Given the description of an element on the screen output the (x, y) to click on. 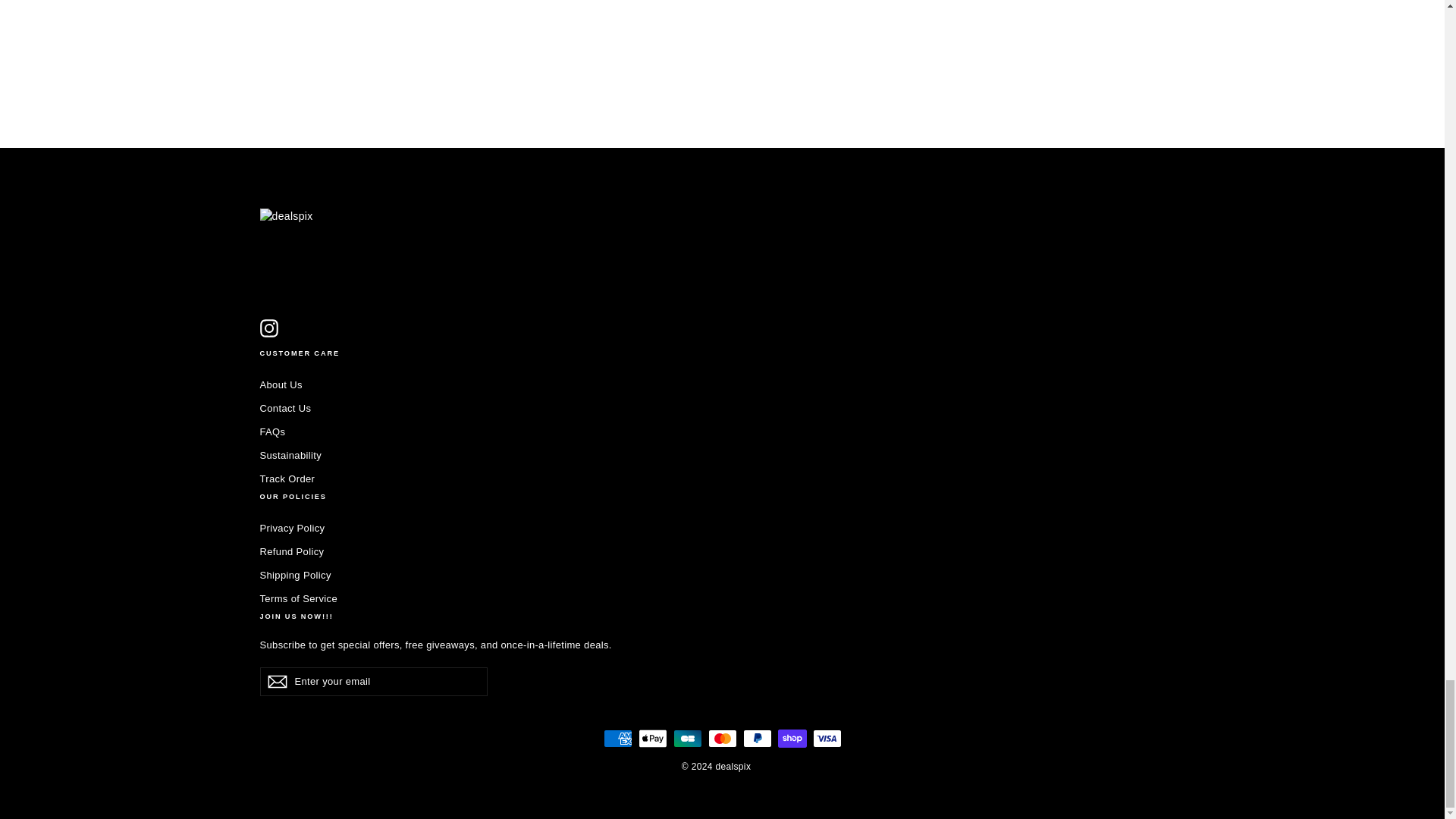
Cartes Bancaires (686, 738)
American Express (617, 738)
dealspix on Instagram (268, 328)
Shop Pay (791, 738)
PayPal (756, 738)
Apple Pay (652, 738)
Mastercard (721, 738)
Visa (826, 738)
